Given the description of an element on the screen output the (x, y) to click on. 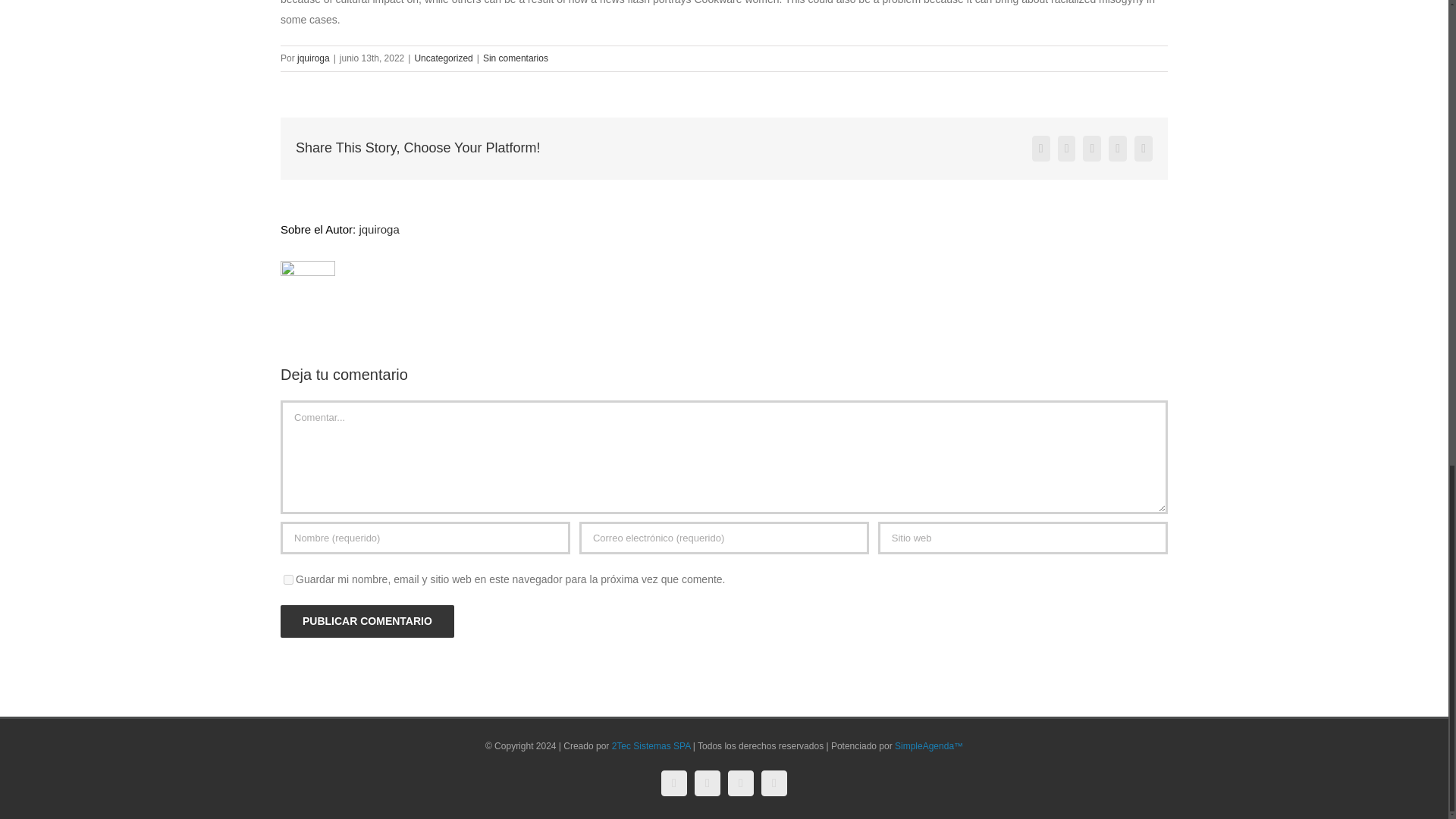
jquiroga (378, 228)
Entradas de jquiroga (378, 228)
Publicar comentario (367, 621)
Sin comentarios (515, 58)
Entradas de jquiroga (313, 58)
WhatsApp (774, 783)
yes (288, 579)
Instagram (707, 783)
Publicar comentario (367, 621)
YouTube (741, 783)
